Given the description of an element on the screen output the (x, y) to click on. 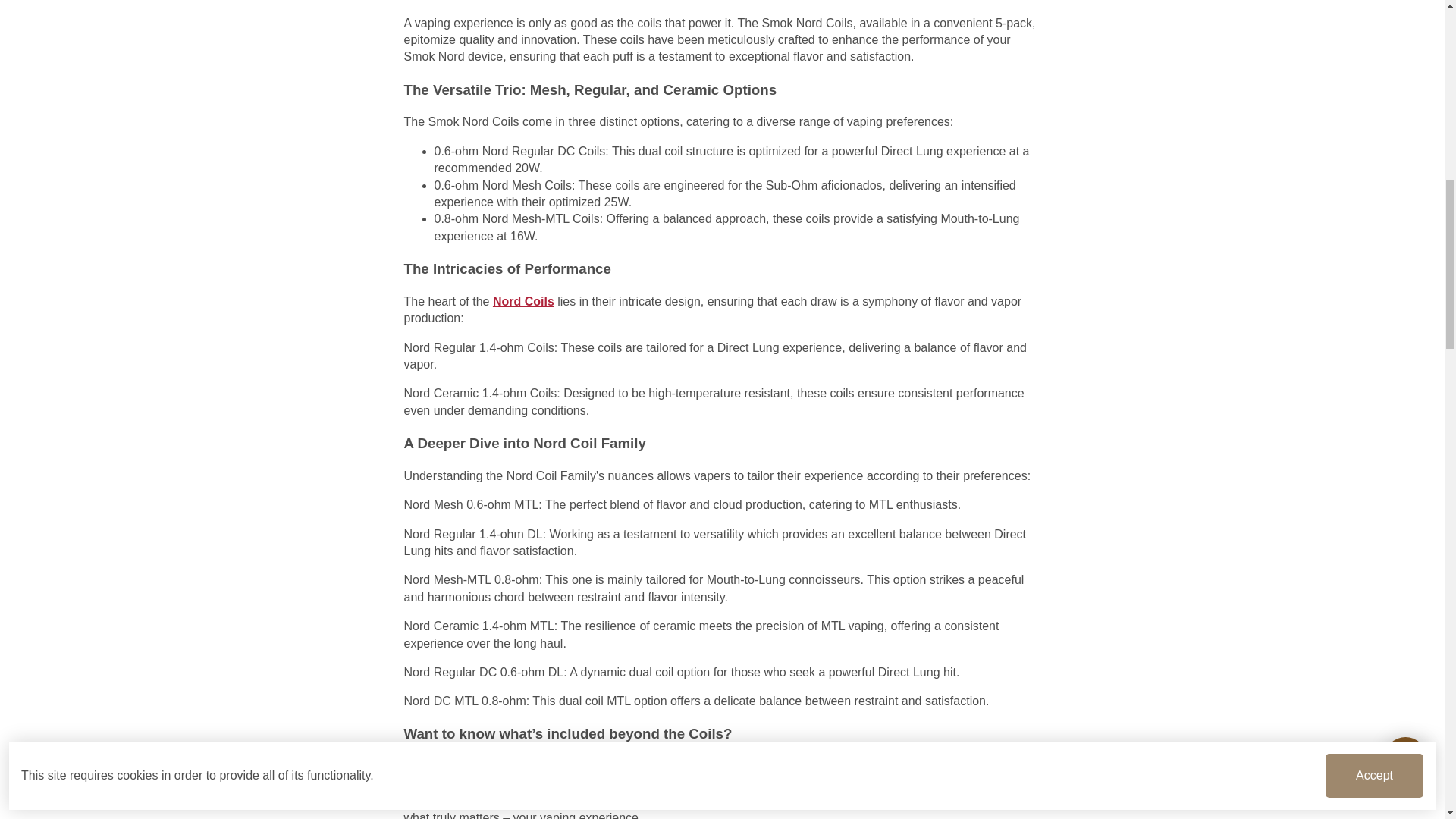
Nord Coils (523, 300)
